Given the description of an element on the screen output the (x, y) to click on. 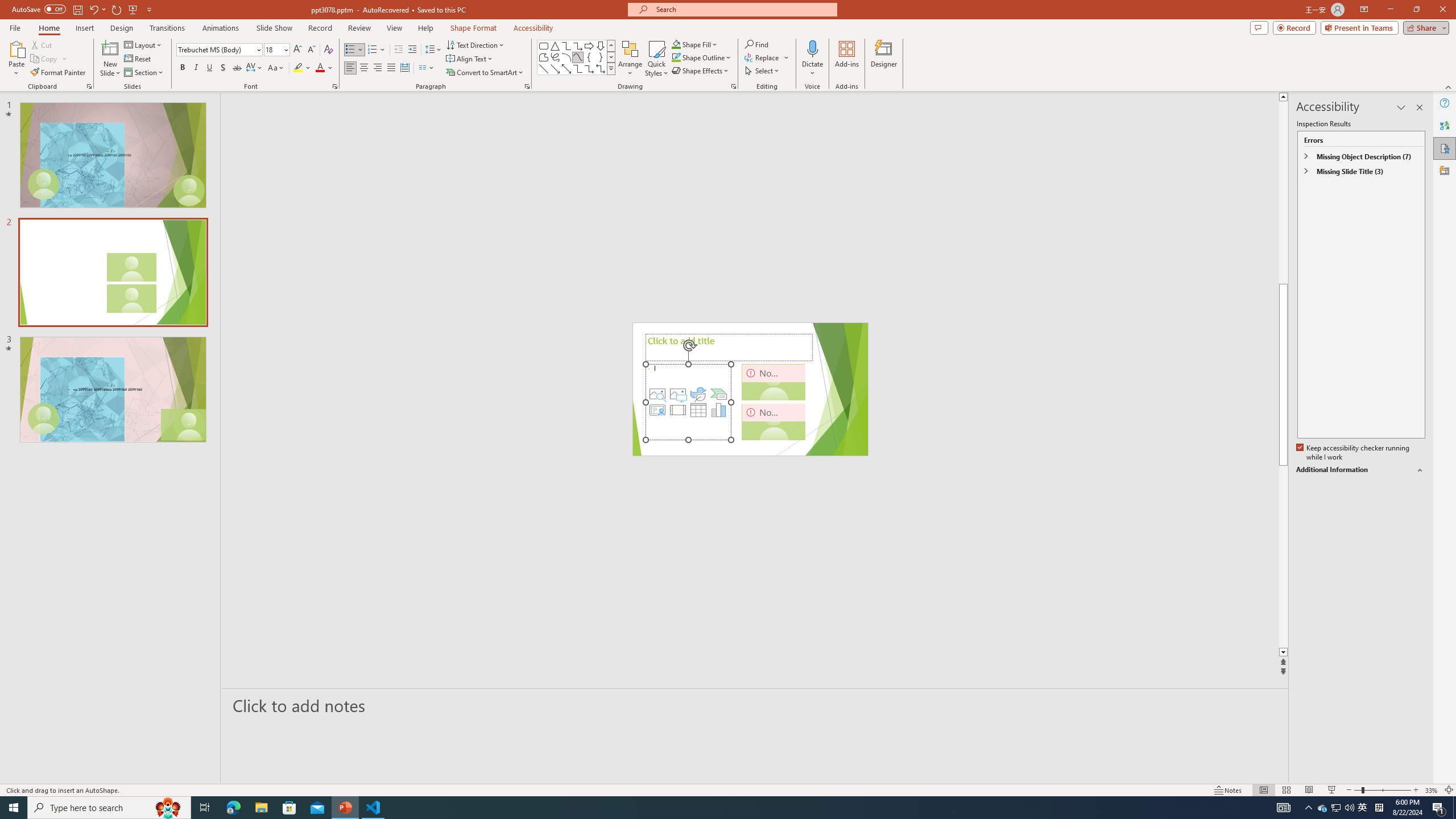
Shape Outline Green, Accent 1 (675, 56)
Pictures (677, 394)
Insert an Icon (697, 394)
